Given the description of an element on the screen output the (x, y) to click on. 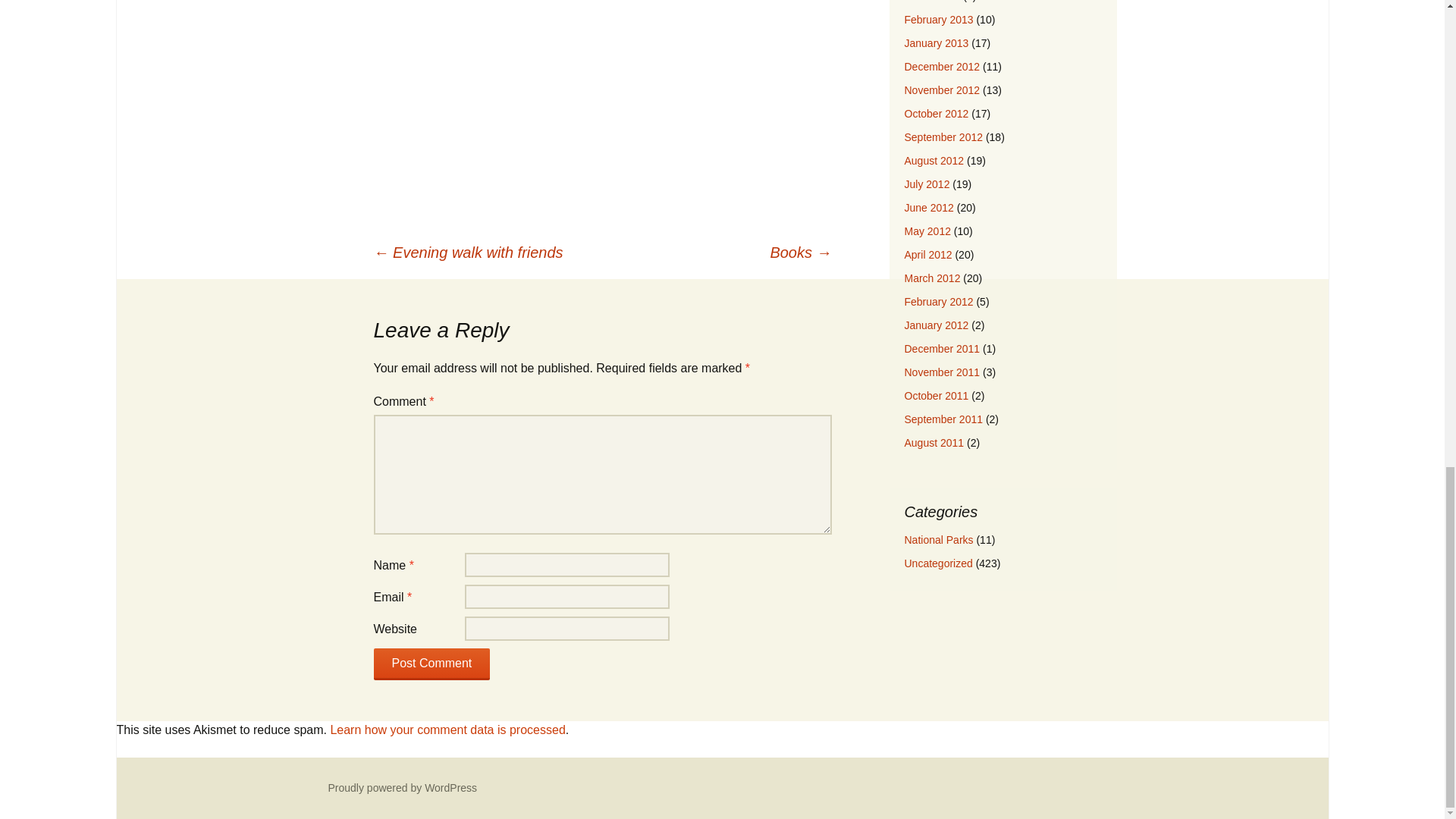
Post Comment (430, 664)
Post Comment (430, 664)
Learn how your comment data is processed (447, 729)
